Given the description of an element on the screen output the (x, y) to click on. 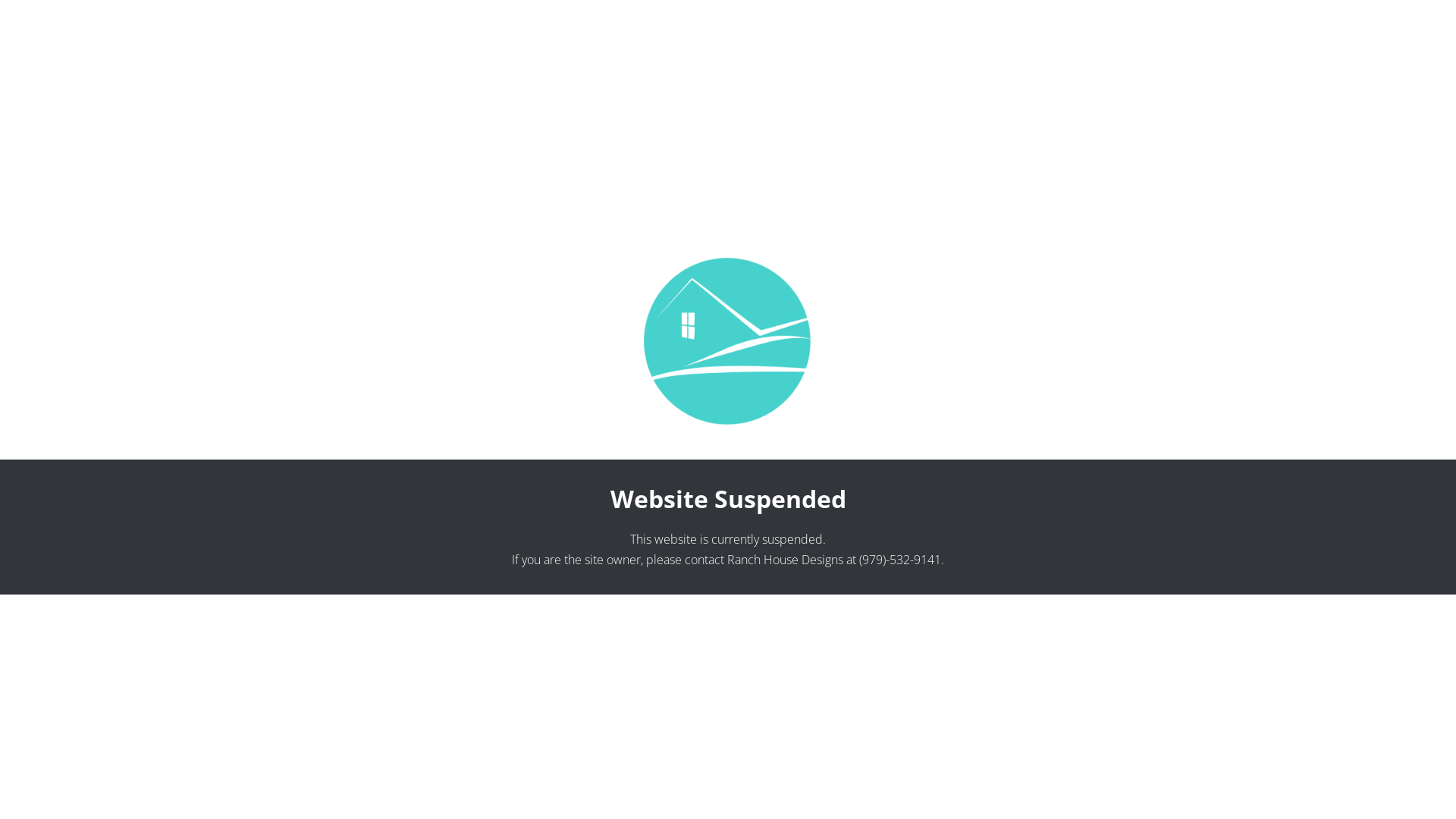
Ranch House Designs Element type: text (785, 559)
